Given the description of an element on the screen output the (x, y) to click on. 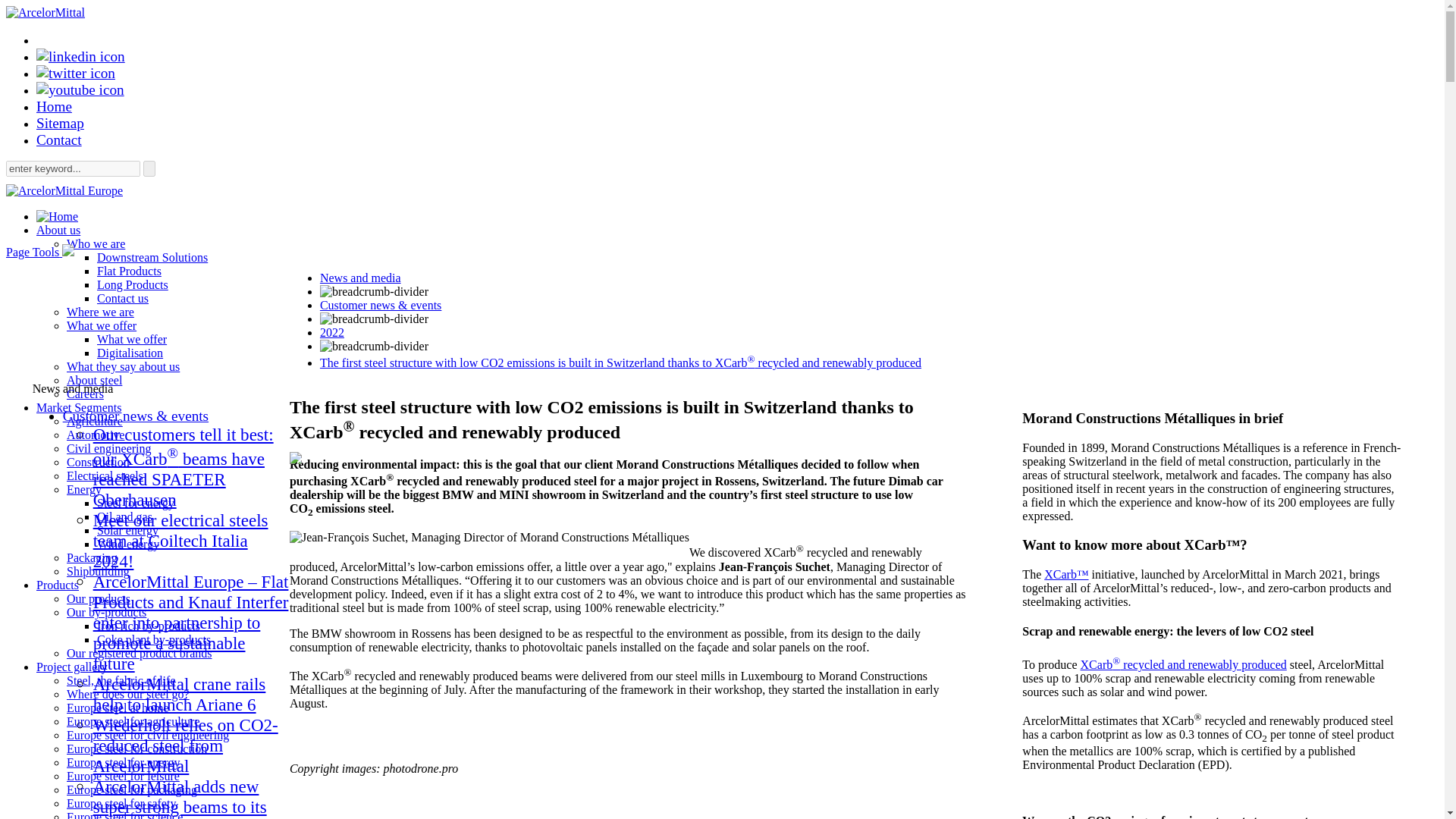
Sitemap (60, 123)
Long Products (132, 284)
Contact us (122, 297)
Products (57, 584)
Construction (97, 461)
Shipbuilding (97, 571)
Automotive (94, 434)
What we offer (132, 338)
Who we are (95, 243)
Solar energy (127, 530)
